Given the description of an element on the screen output the (x, y) to click on. 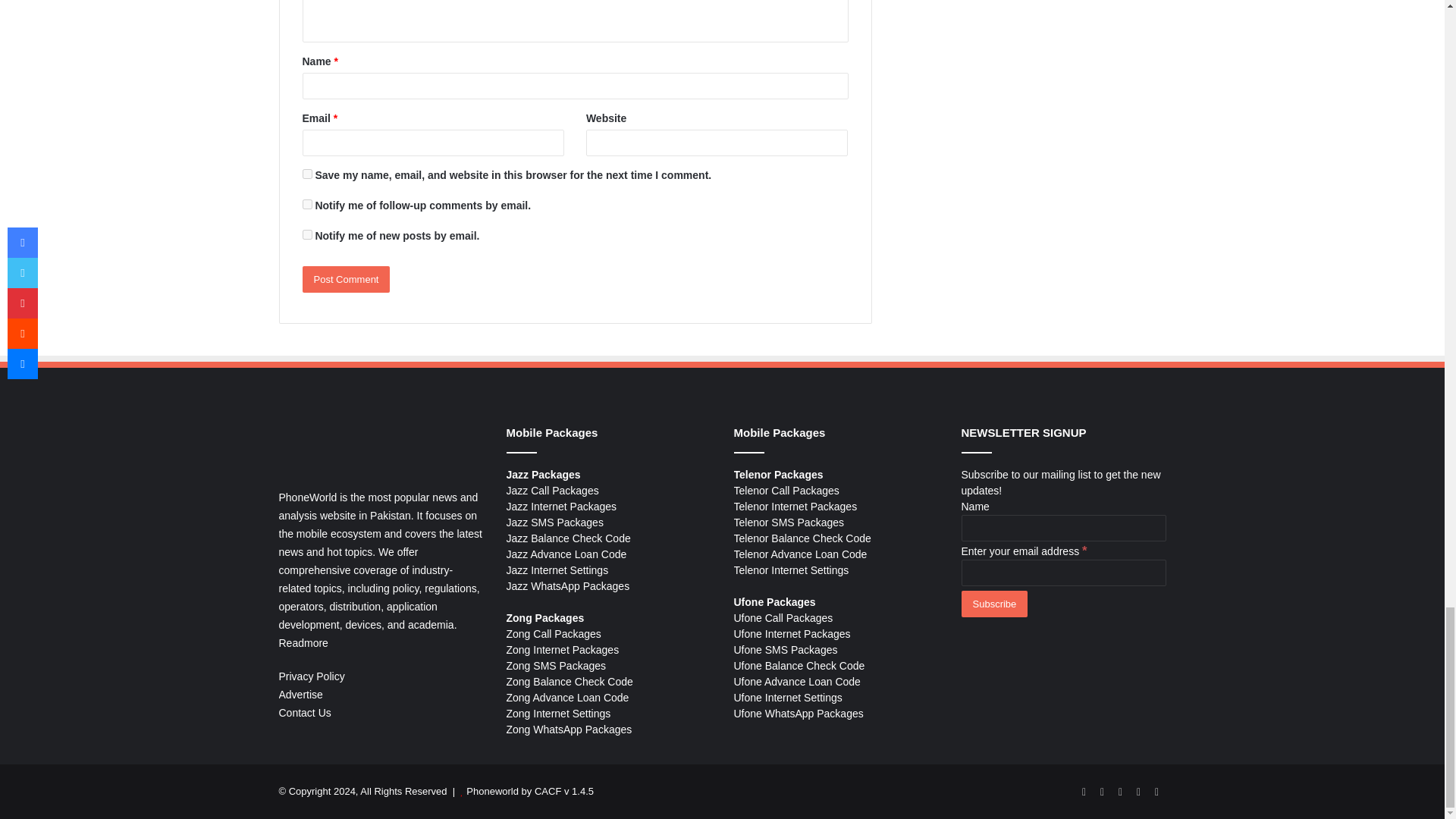
yes (306, 173)
subscribe (306, 204)
subscribe (306, 234)
Post Comment (345, 279)
Subscribe (993, 603)
